Given the description of an element on the screen output the (x, y) to click on. 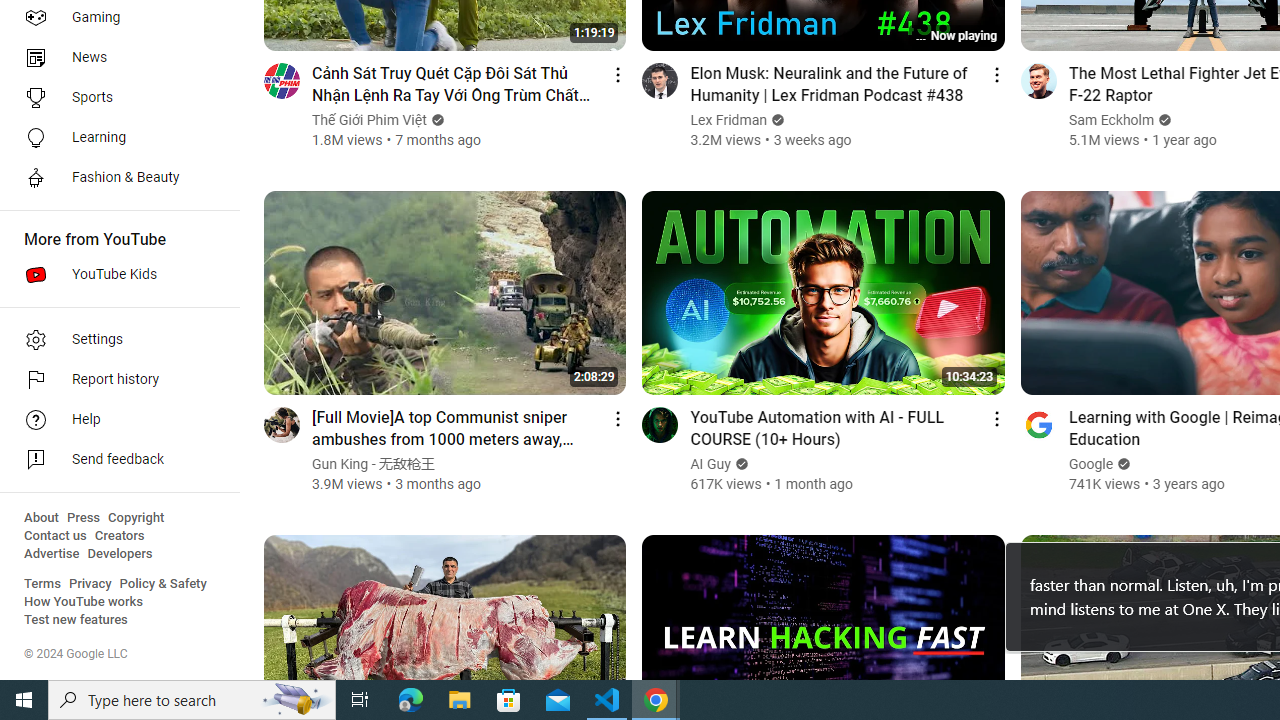
Contact us (55, 536)
Verified (1122, 464)
Action menu (996, 418)
Lex Fridman (729, 120)
News (113, 57)
Terms (42, 584)
Creators (118, 536)
YouTube Kids (113, 274)
Google (1090, 464)
Learning (113, 137)
Copyright (136, 518)
